Given the description of an element on the screen output the (x, y) to click on. 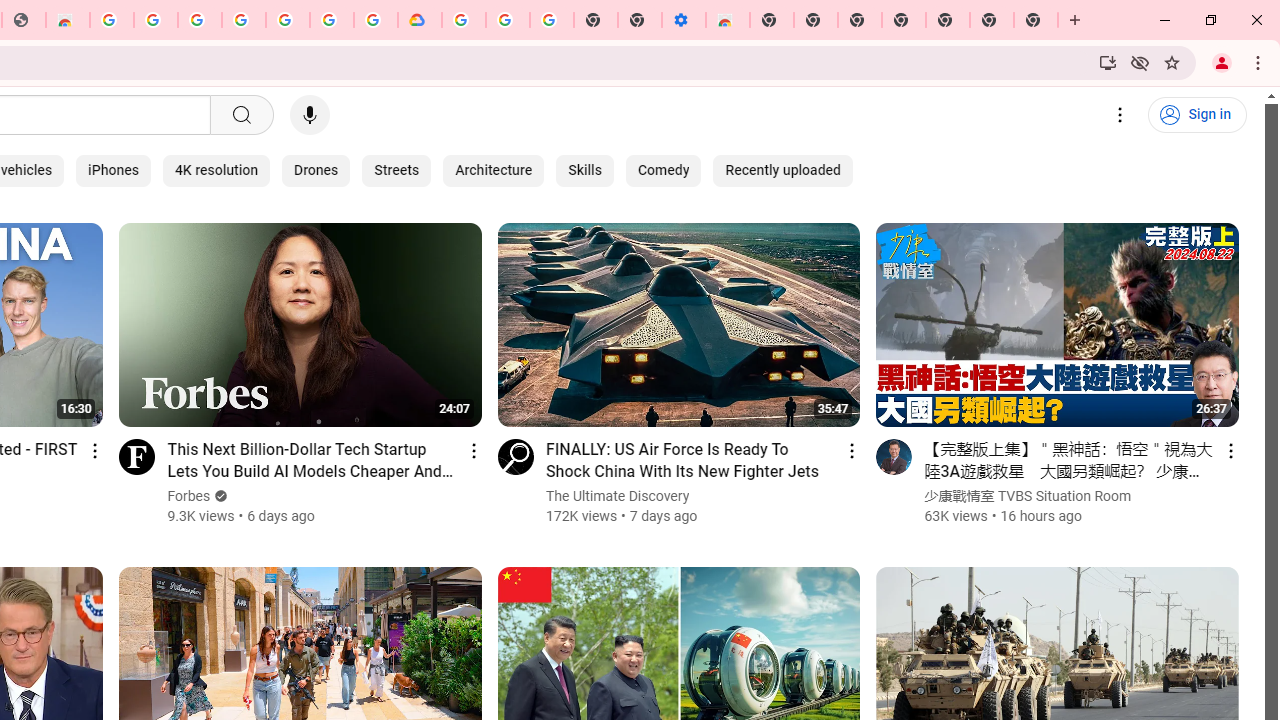
Install YouTube (1107, 62)
Ad Settings (155, 20)
Settings (1119, 115)
4K resolution (216, 170)
Recently uploaded (782, 170)
